Given the description of an element on the screen output the (x, y) to click on. 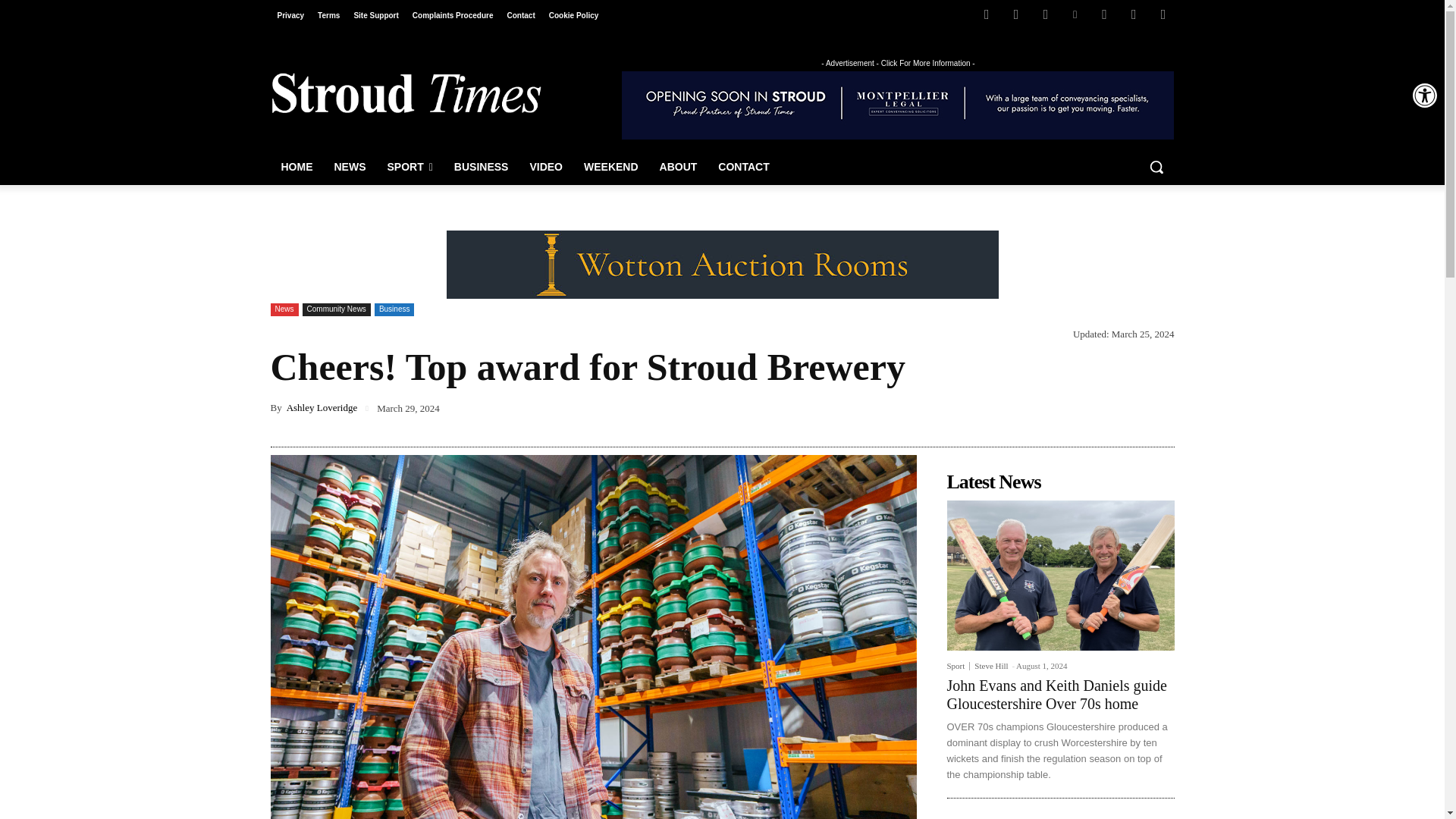
Facebook (986, 14)
Terms (328, 15)
Accessibility Tools (1424, 95)
Privacy (290, 15)
Flipboard (1016, 14)
